Given the description of an element on the screen output the (x, y) to click on. 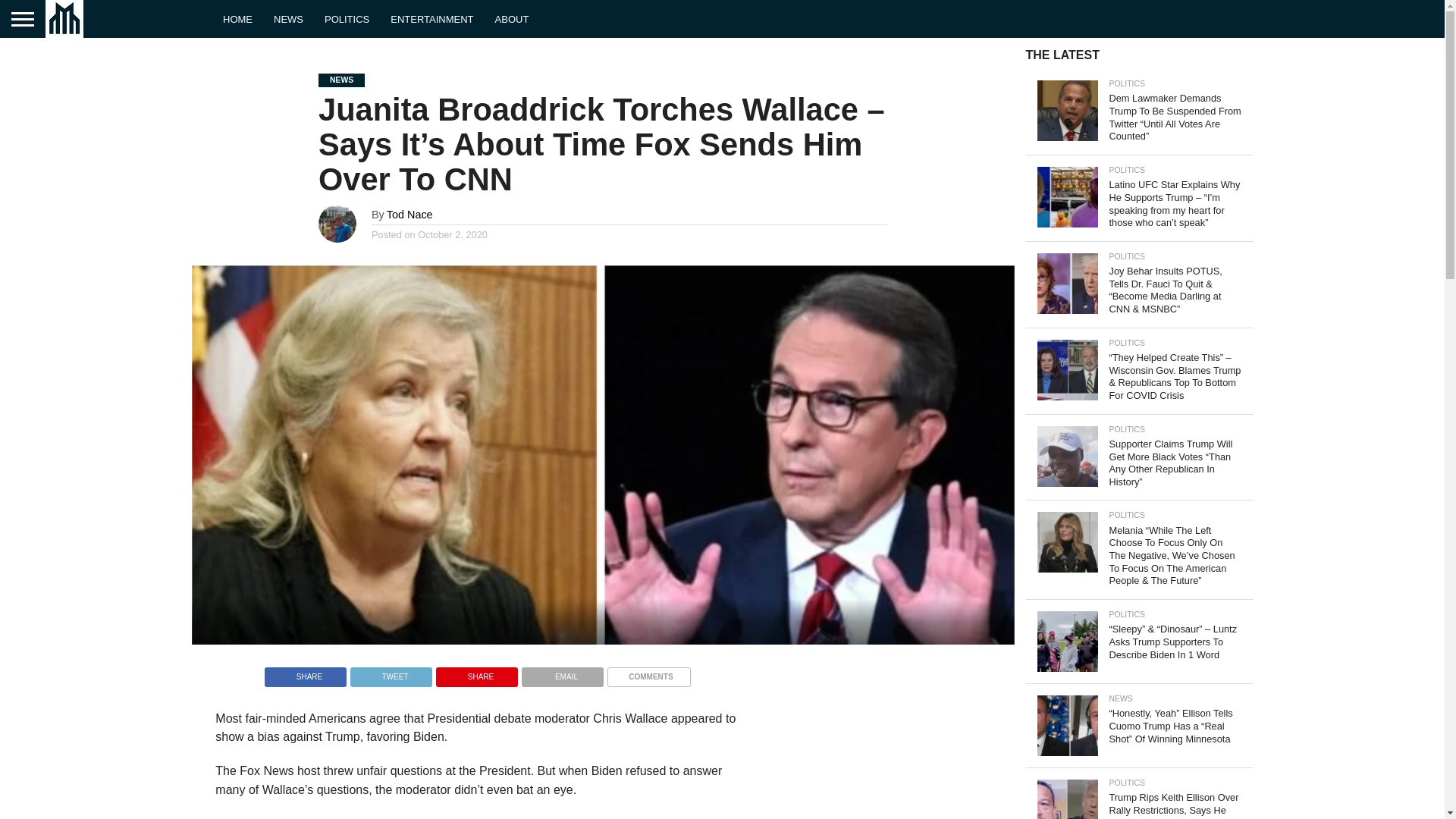
SHARE (476, 672)
EMAIL (562, 672)
ABOUT (512, 18)
Pin This Post (476, 672)
Posts by Tod Nace (409, 214)
SHARE (305, 672)
Share on Facebook (305, 672)
ENTERTAINMENT (431, 18)
COMMENTS (648, 672)
NEWS (288, 18)
POLITICS (347, 18)
TWEET (390, 672)
HOME (237, 18)
Tweet This Post (390, 672)
Tod Nace (409, 214)
